Given the description of an element on the screen output the (x, y) to click on. 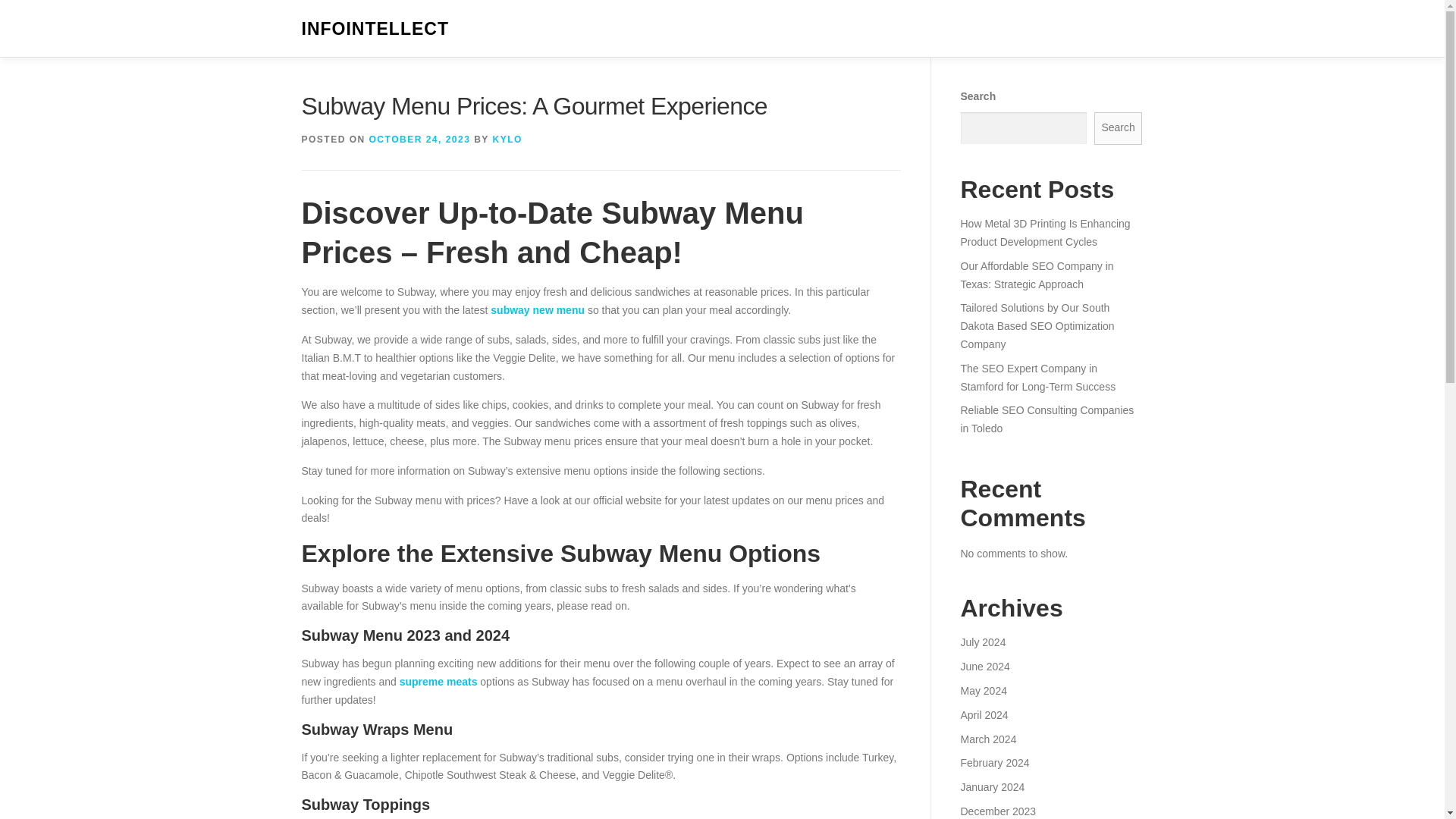
The SEO Expert Company in Stamford for Long-Term Success (1037, 377)
subway new menu (537, 309)
May 2024 (982, 690)
July 2024 (982, 642)
supreme meats (437, 681)
Search (1118, 128)
April 2024 (983, 715)
OCTOBER 24, 2023 (419, 139)
Our Affordable SEO Company in Texas: Strategic Approach (1036, 275)
February 2024 (994, 762)
January 2024 (992, 787)
Reliable SEO Consulting Companies in Toledo (1046, 419)
INFOINTELLECT (374, 29)
June 2024 (984, 666)
